Given the description of an element on the screen output the (x, y) to click on. 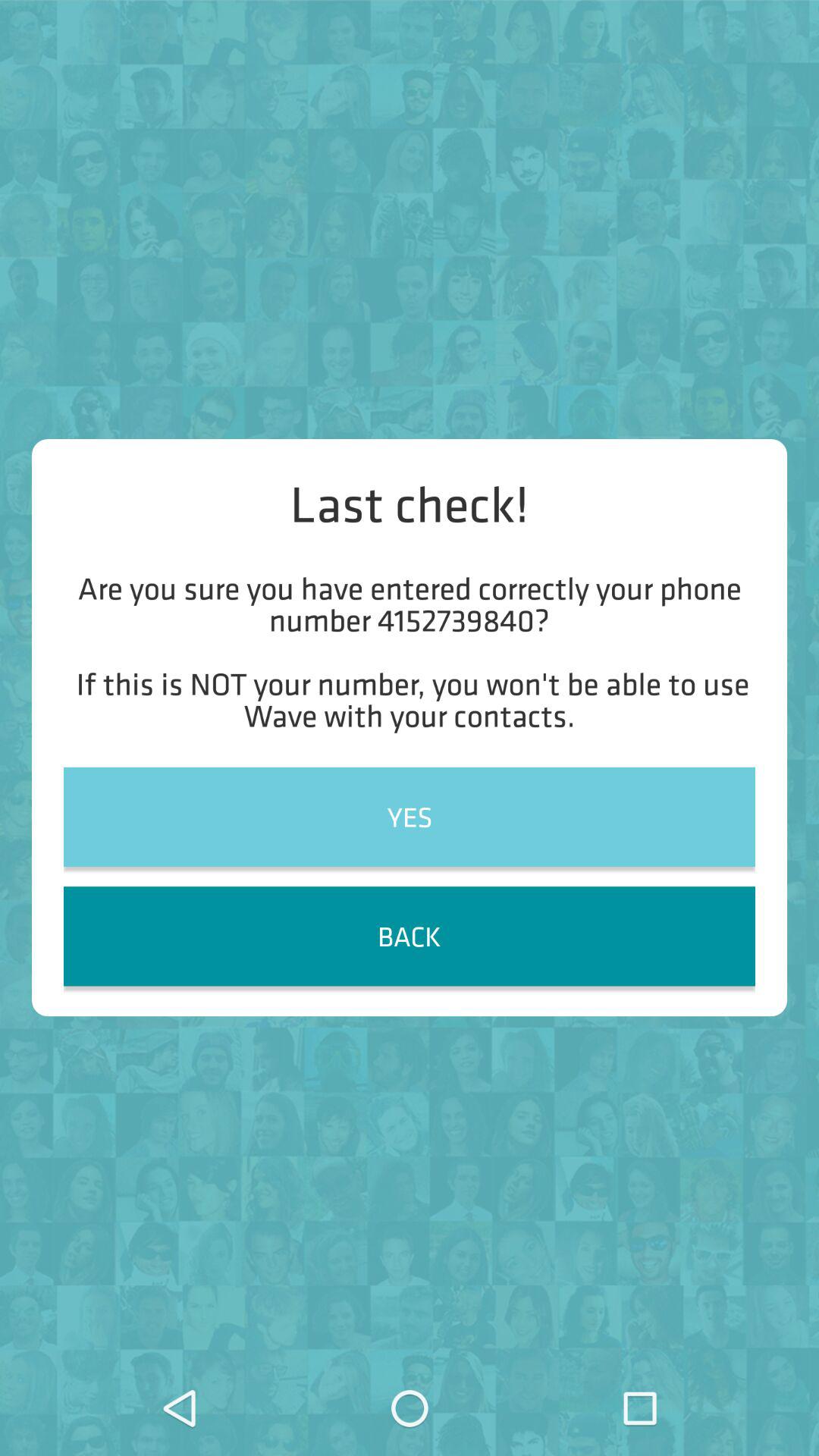
select the yes item (409, 816)
